Given the description of an element on the screen output the (x, y) to click on. 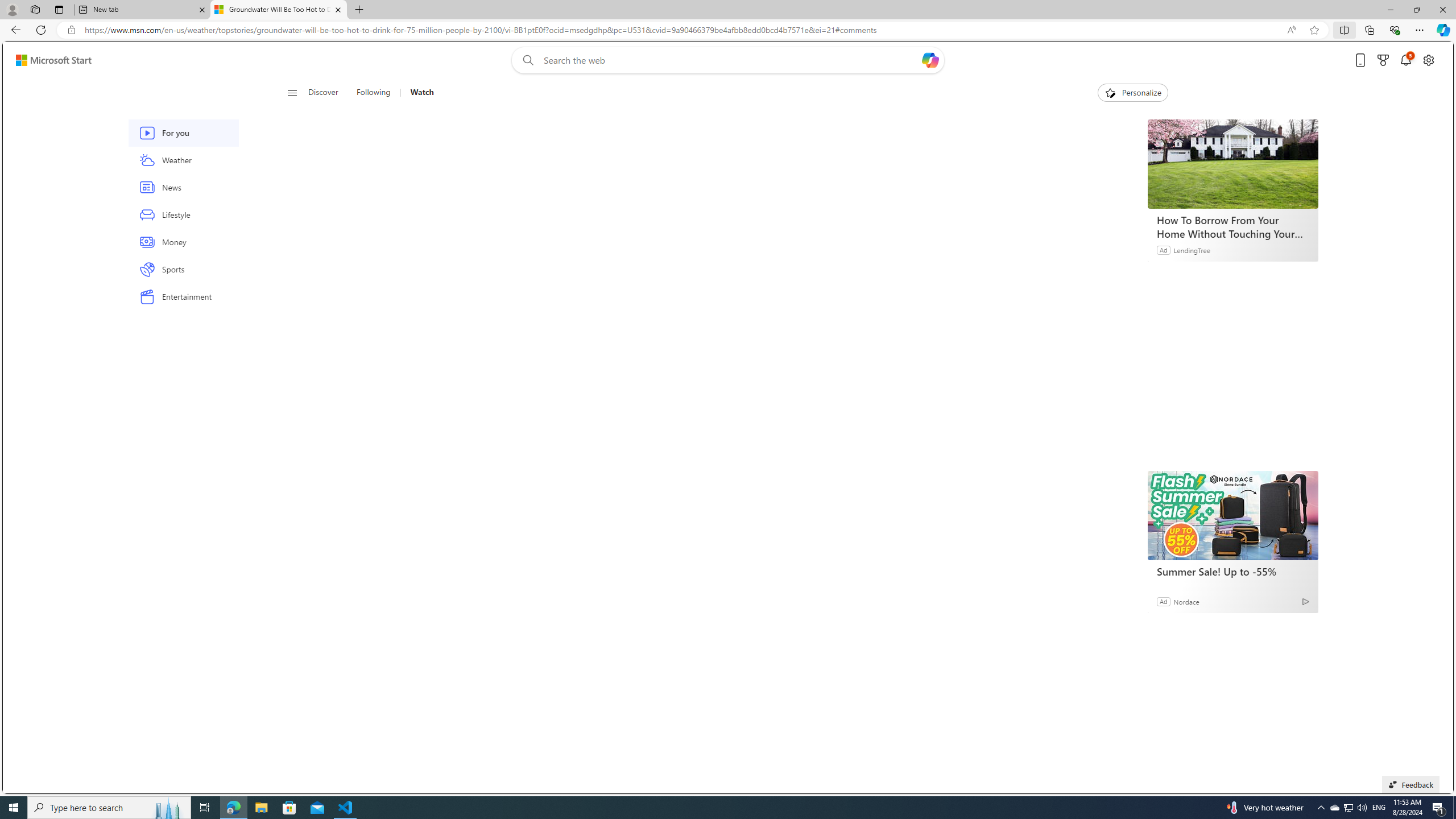
LendingTree (1192, 249)
